Given the description of an element on the screen output the (x, y) to click on. 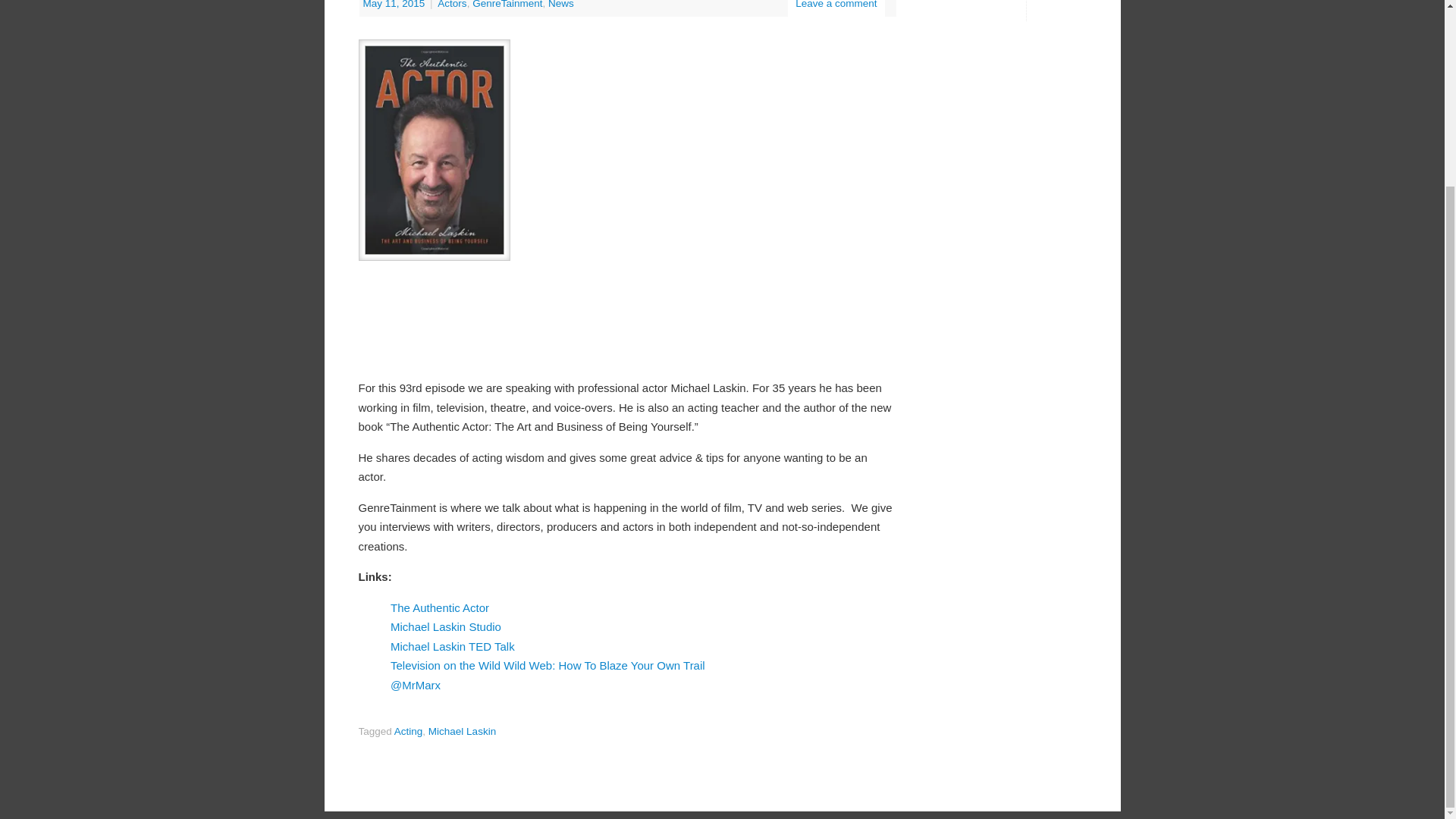
Michael Laskin Studio (445, 626)
12:21 am (395, 4)
Actors (451, 4)
Michael Laskin (462, 731)
GenreTainment (506, 4)
Leave a comment (835, 4)
The Authentic Actor (439, 607)
Acting (408, 731)
May 11, 2015 (395, 4)
Television on the Wild Wild Web: How To Blaze Your Own Trail (547, 665)
